Given the description of an element on the screen output the (x, y) to click on. 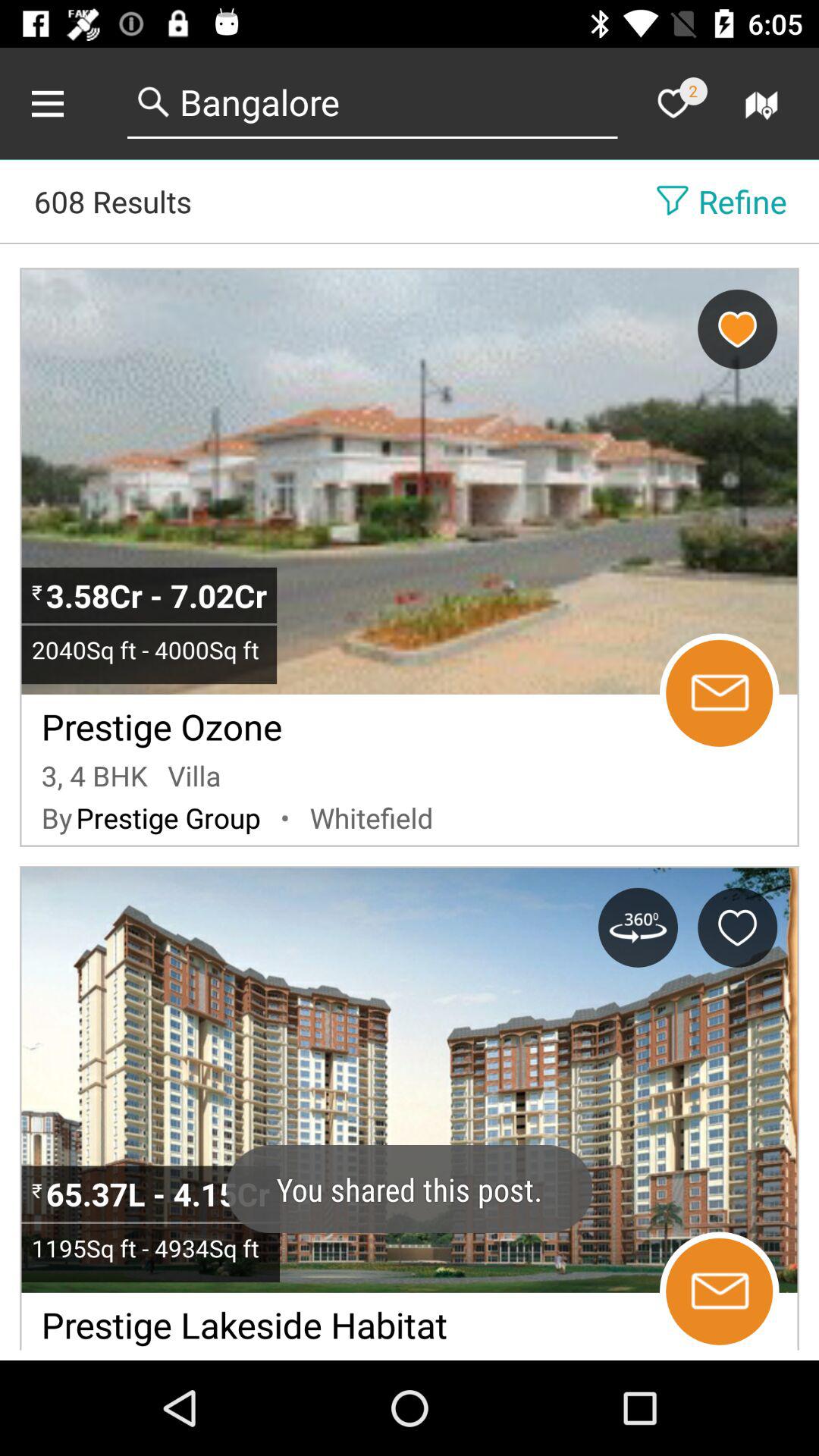
turn off the icon to the right of by (168, 817)
